Given the description of an element on the screen output the (x, y) to click on. 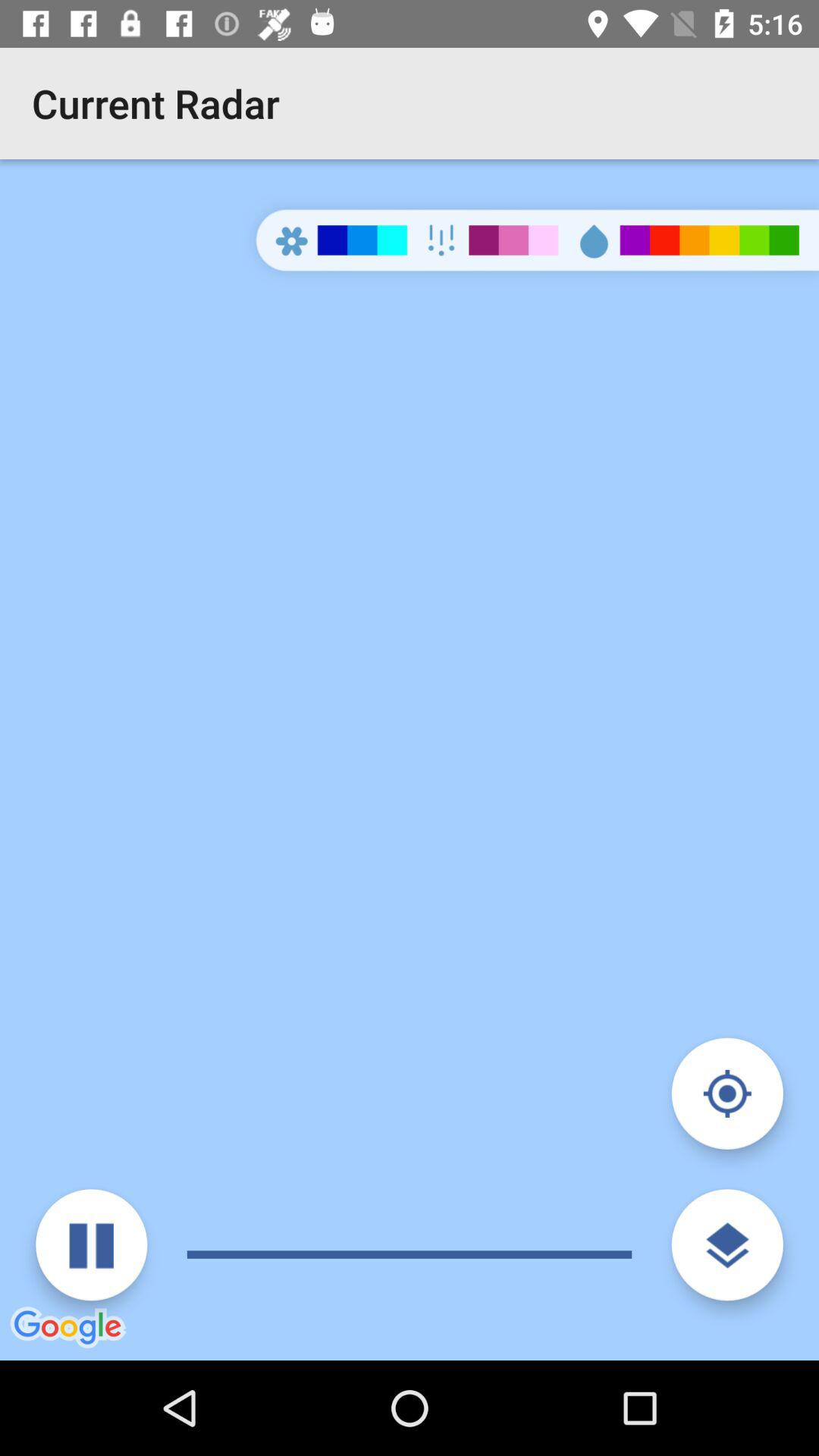
pause radar (91, 1244)
